Given the description of an element on the screen output the (x, y) to click on. 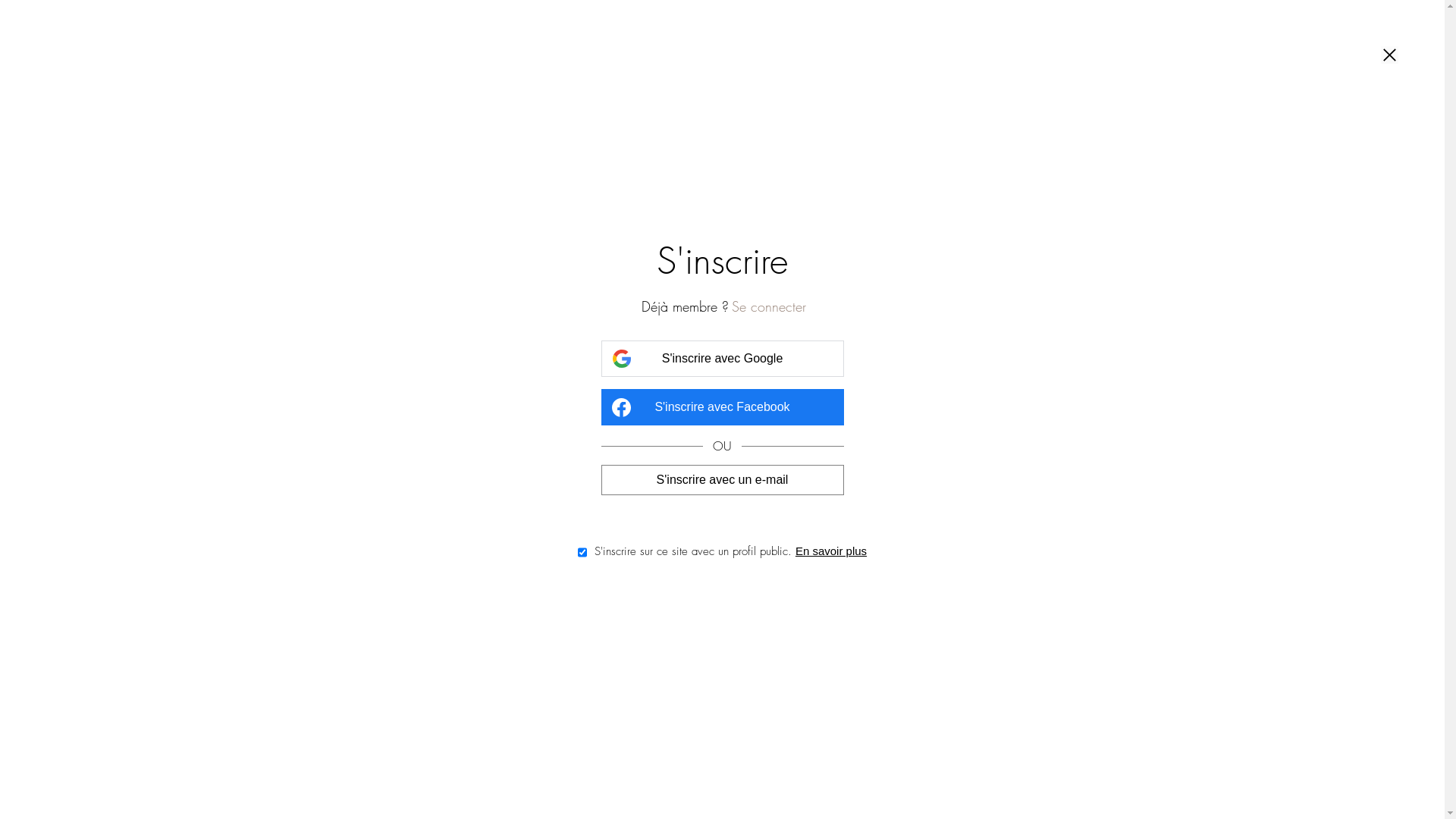
Se connecter Element type: text (768, 306)
S'inscrire avec Facebook Element type: text (721, 407)
S'inscrire avec un e-mail Element type: text (721, 479)
S'inscrire avec Google Element type: text (721, 358)
En savoir plus Element type: text (830, 550)
